Given the description of an element on the screen output the (x, y) to click on. 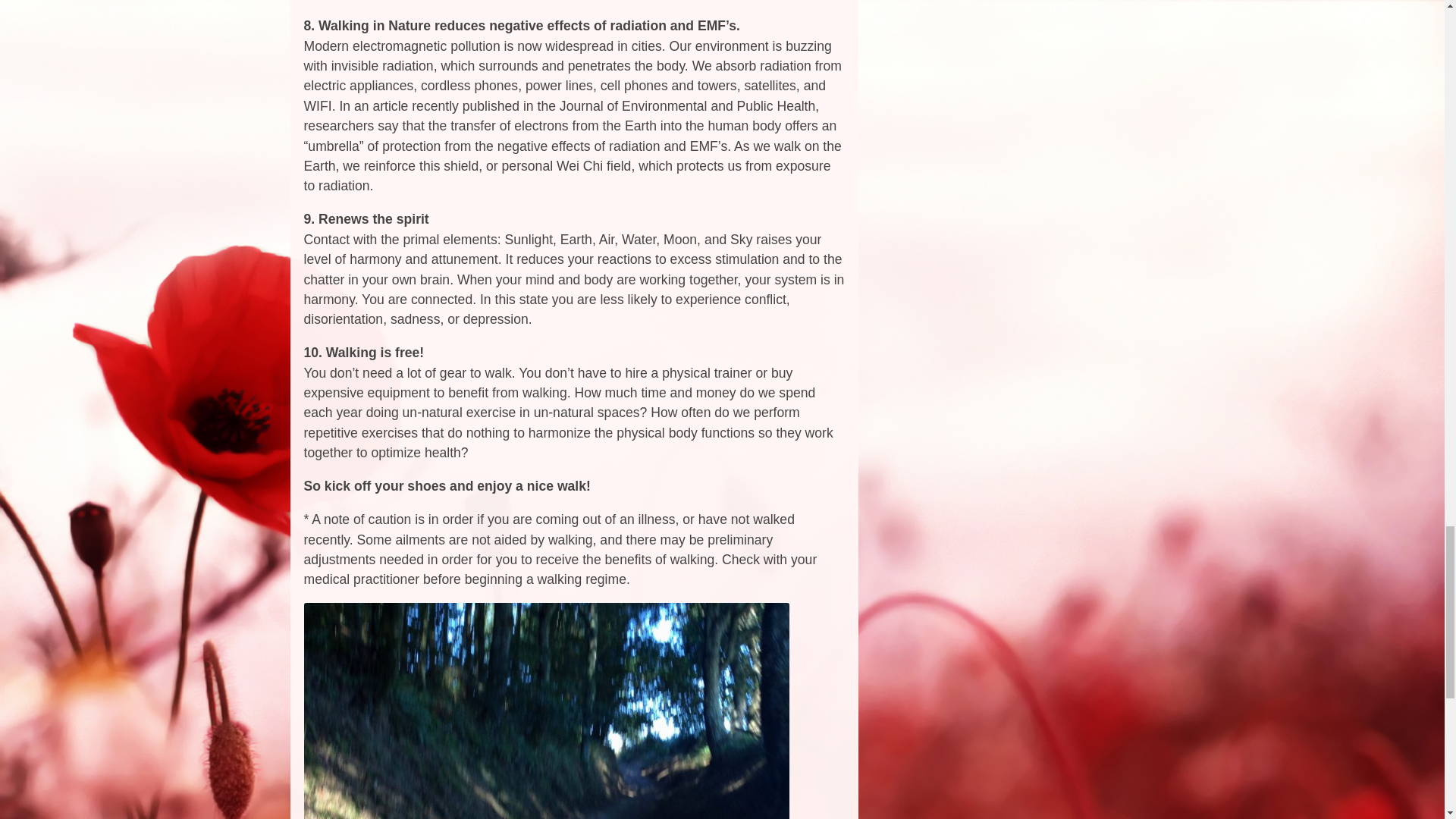
Camino Shadow (545, 710)
